Given the description of an element on the screen output the (x, y) to click on. 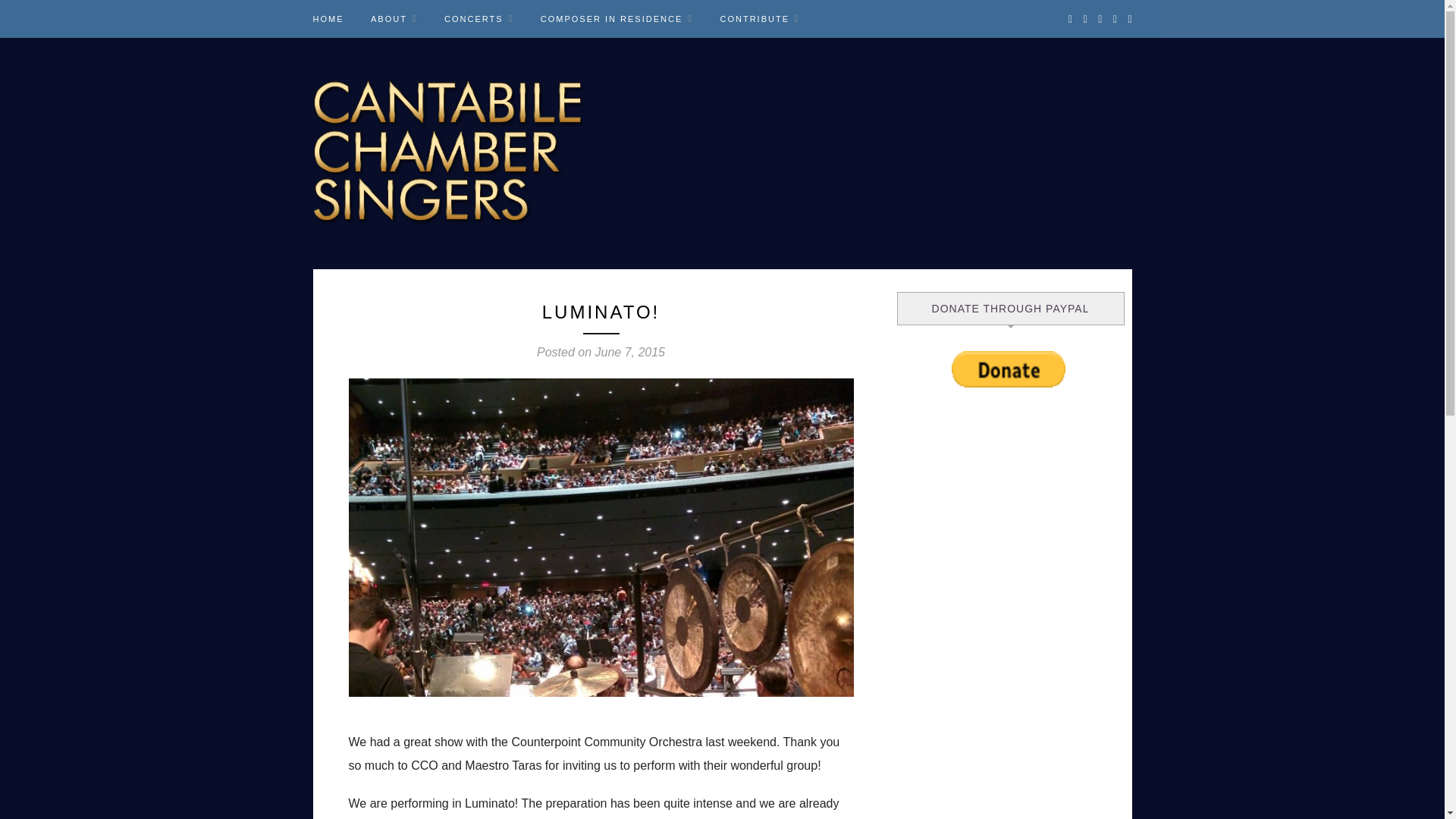
COMPOSER IN RESIDENCE (616, 18)
CONCERTS (478, 18)
ABOUT (394, 18)
CONTRIBUTE (759, 18)
PayPal - The safer, easier way to pay online! (1008, 368)
